Given the description of an element on the screen output the (x, y) to click on. 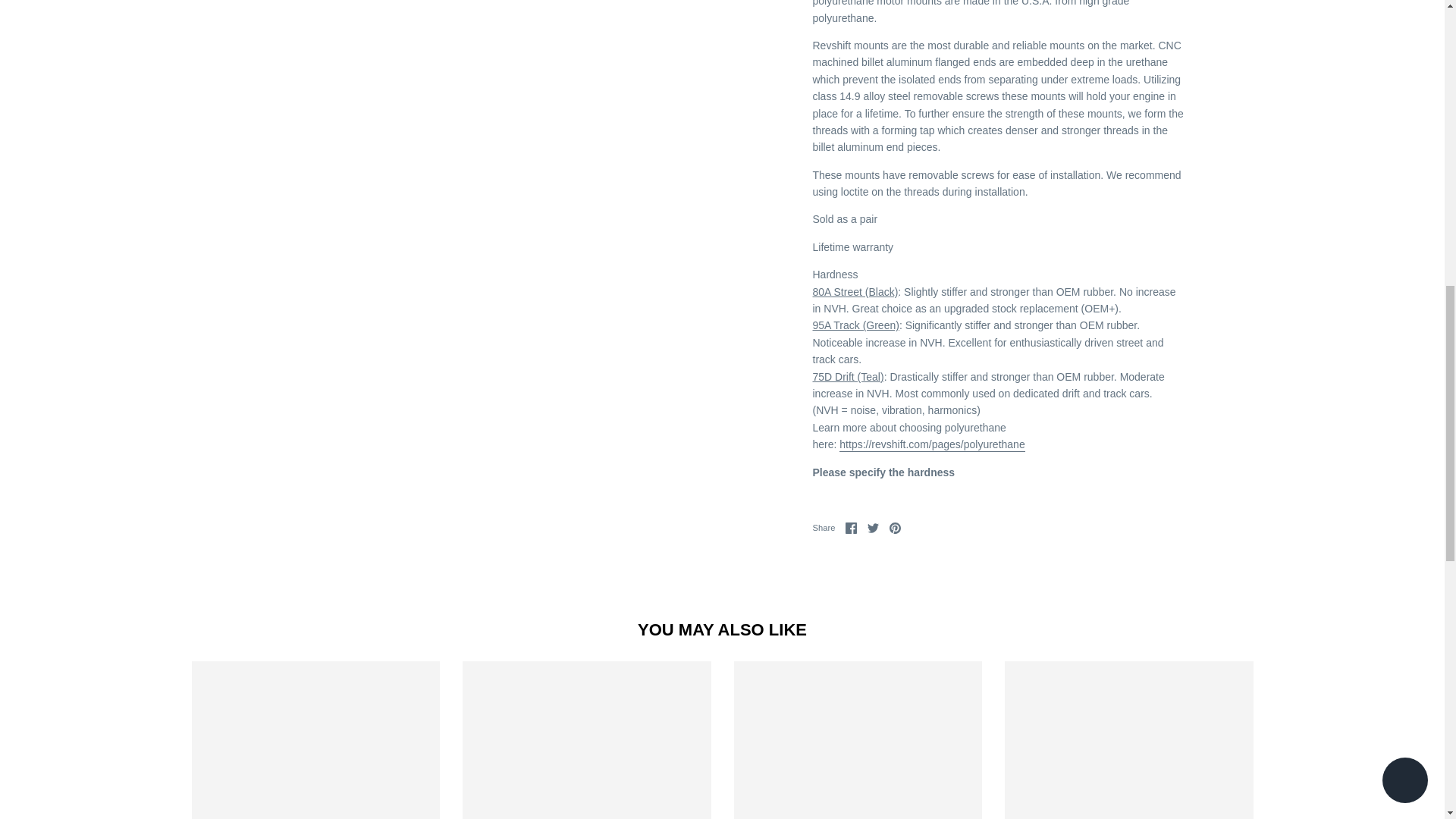
Pinterest (895, 527)
Twitter (873, 527)
Facebook (851, 527)
Revshift Polyurethane (932, 445)
